Given the description of an element on the screen output the (x, y) to click on. 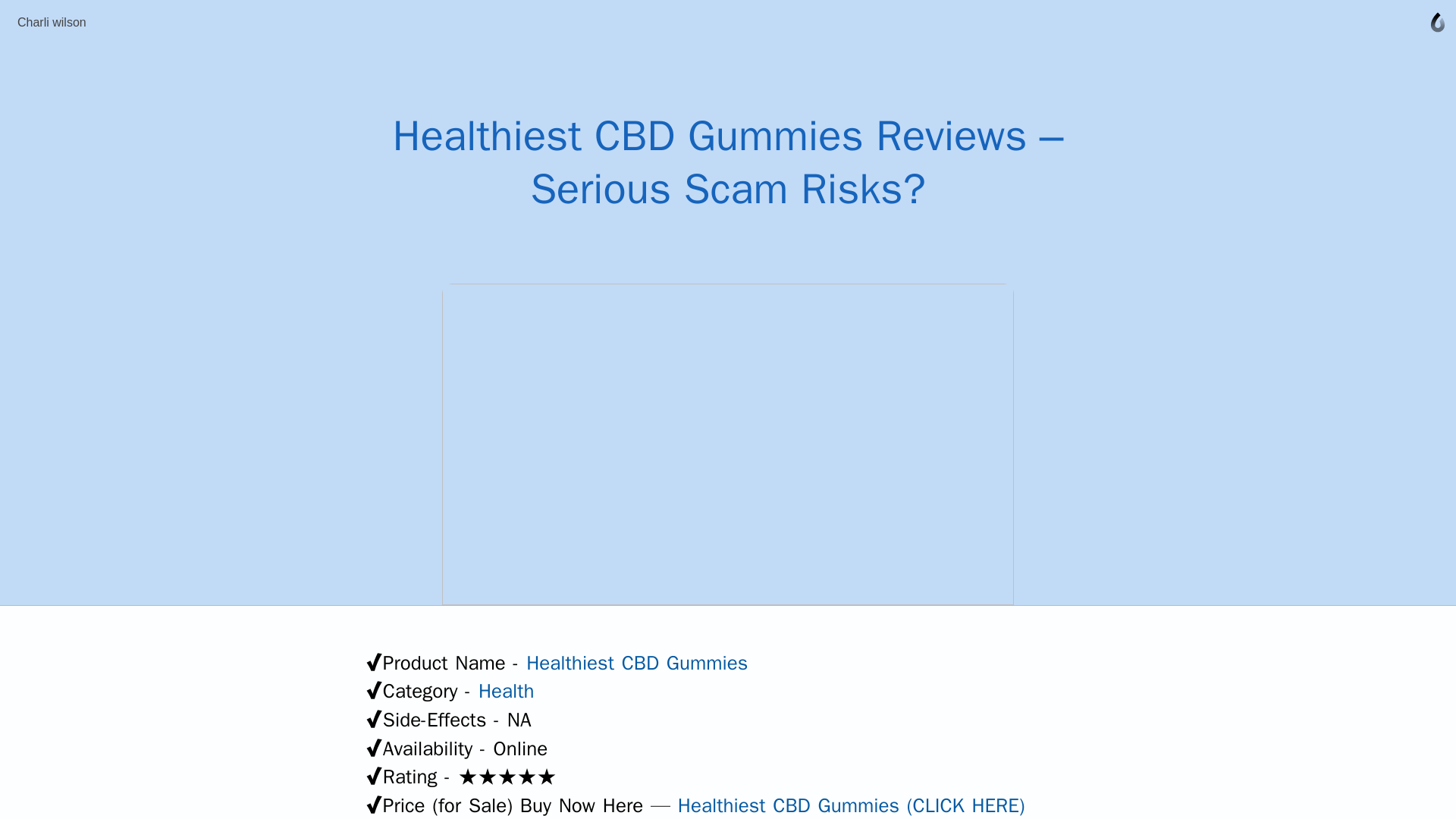
Healthiest CBD Gummies (636, 662)
Charli wilson (51, 22)
Health (506, 690)
